Given the description of an element on the screen output the (x, y) to click on. 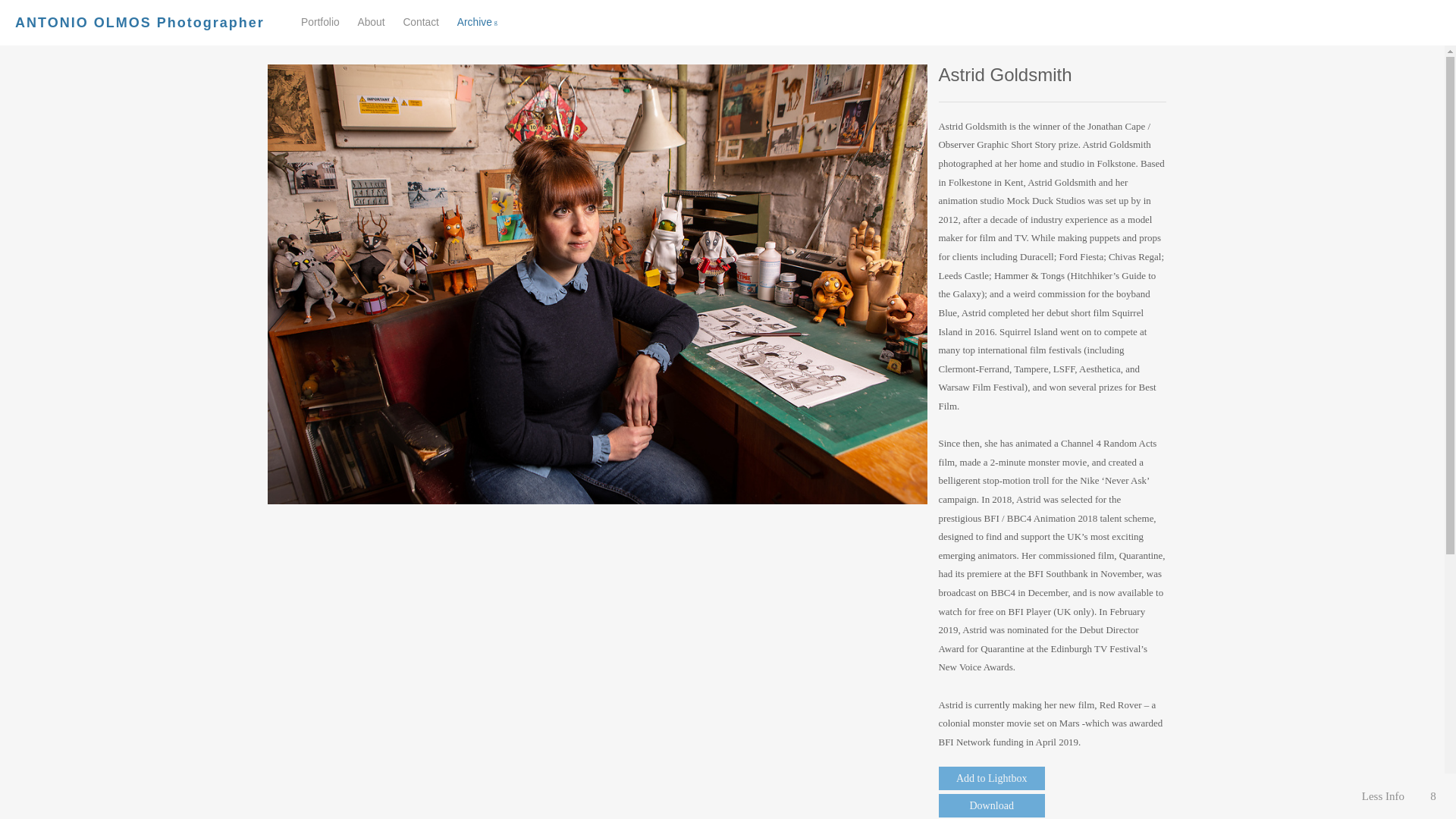
Contact (421, 21)
Portfolio About Contact Archive (406, 23)
ANTONIO OLMOS Photographer (139, 22)
ANTONIO OLMOS Photographer (139, 22)
Download (992, 805)
About (370, 21)
Portfolio (320, 21)
Add to Lightbox (992, 778)
